Given the description of an element on the screen output the (x, y) to click on. 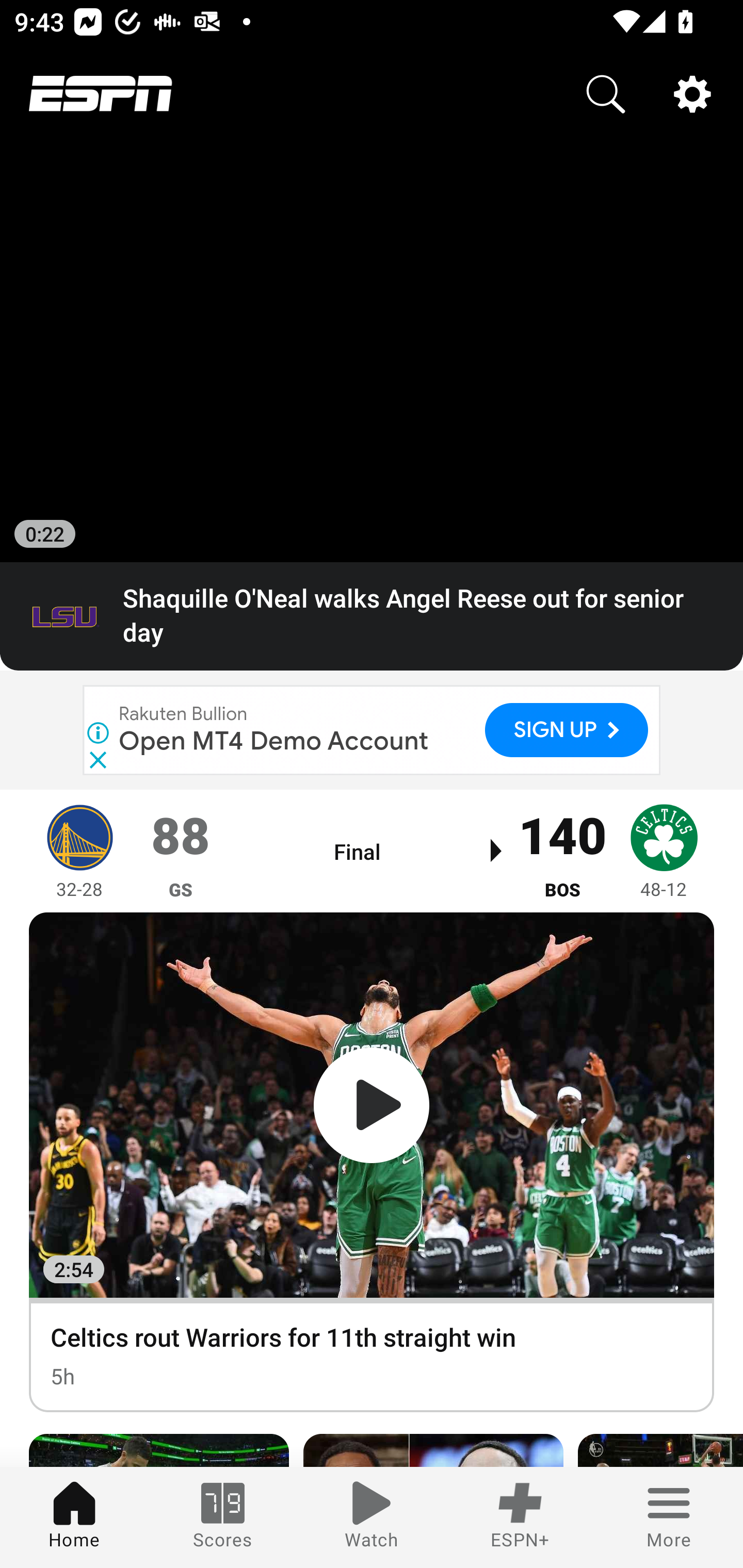
Search (605, 93)
Settings (692, 93)
Rakuten Bullion (183, 713)
SIGN UP (566, 729)
Open MT4 Demo Account (274, 740)
Scores (222, 1517)
Watch (371, 1517)
ESPN+ (519, 1517)
More (668, 1517)
